Given the description of an element on the screen output the (x, y) to click on. 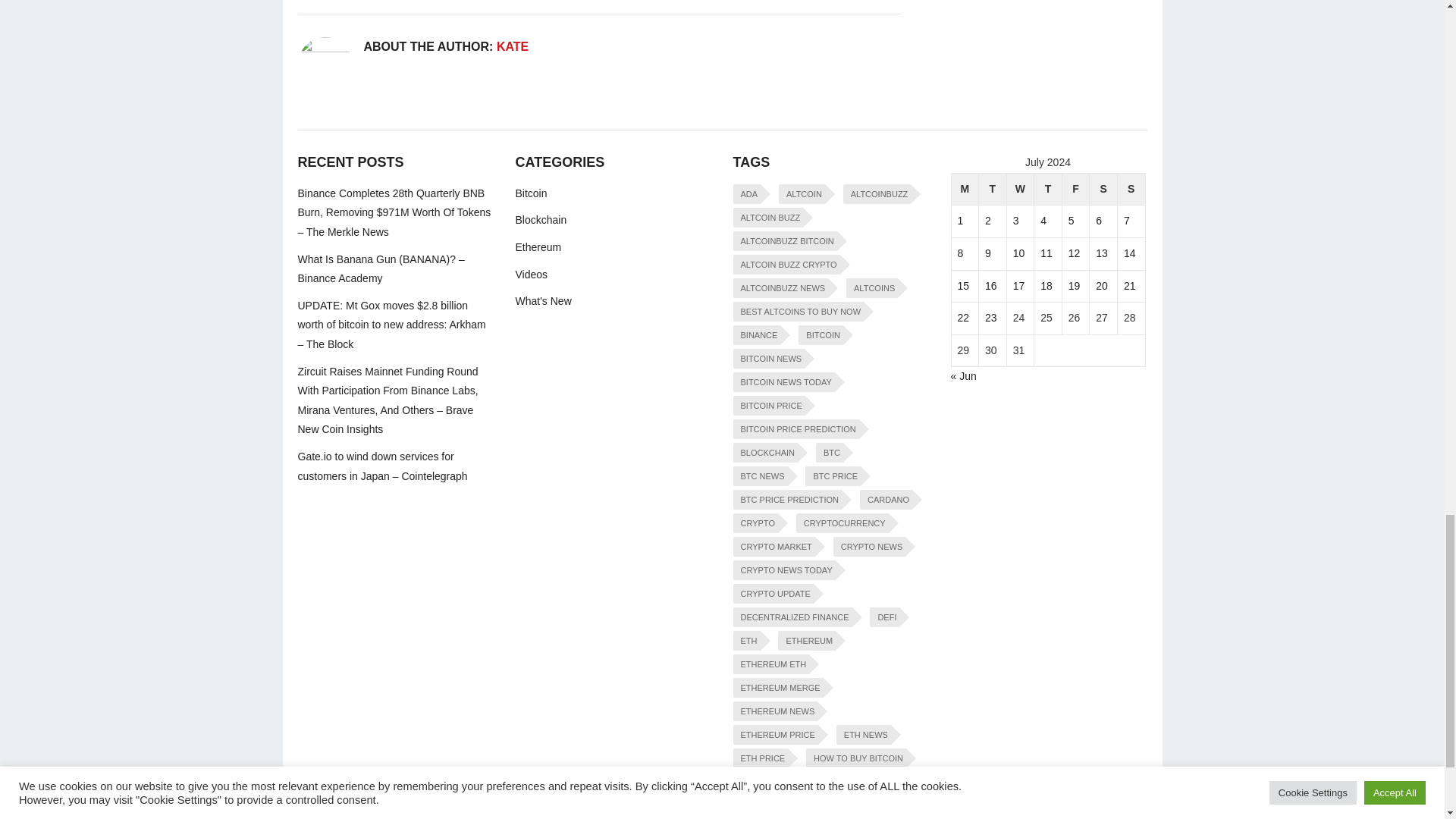
Latest Trending News about Blockchain (541, 219)
